Given the description of an element on the screen output the (x, y) to click on. 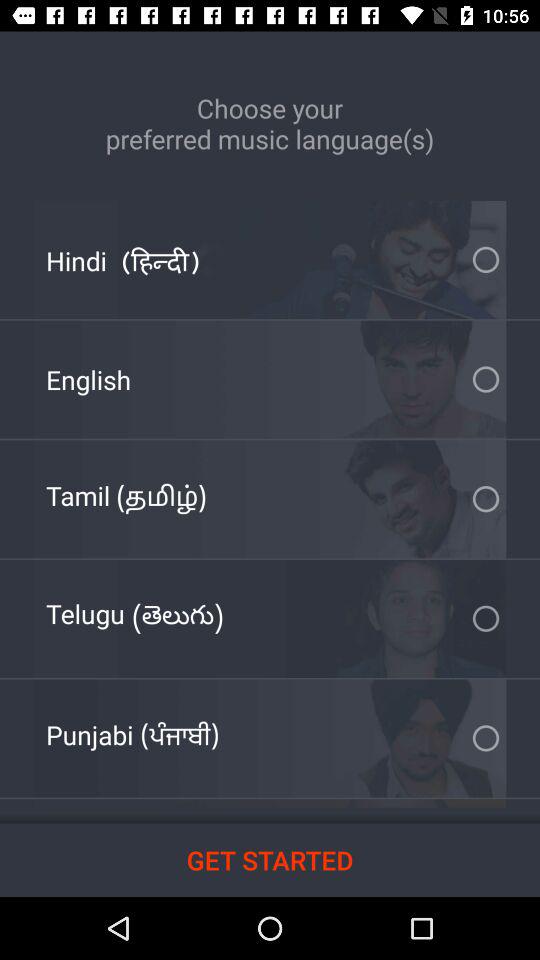
tap get started (270, 859)
